Given the description of an element on the screen output the (x, y) to click on. 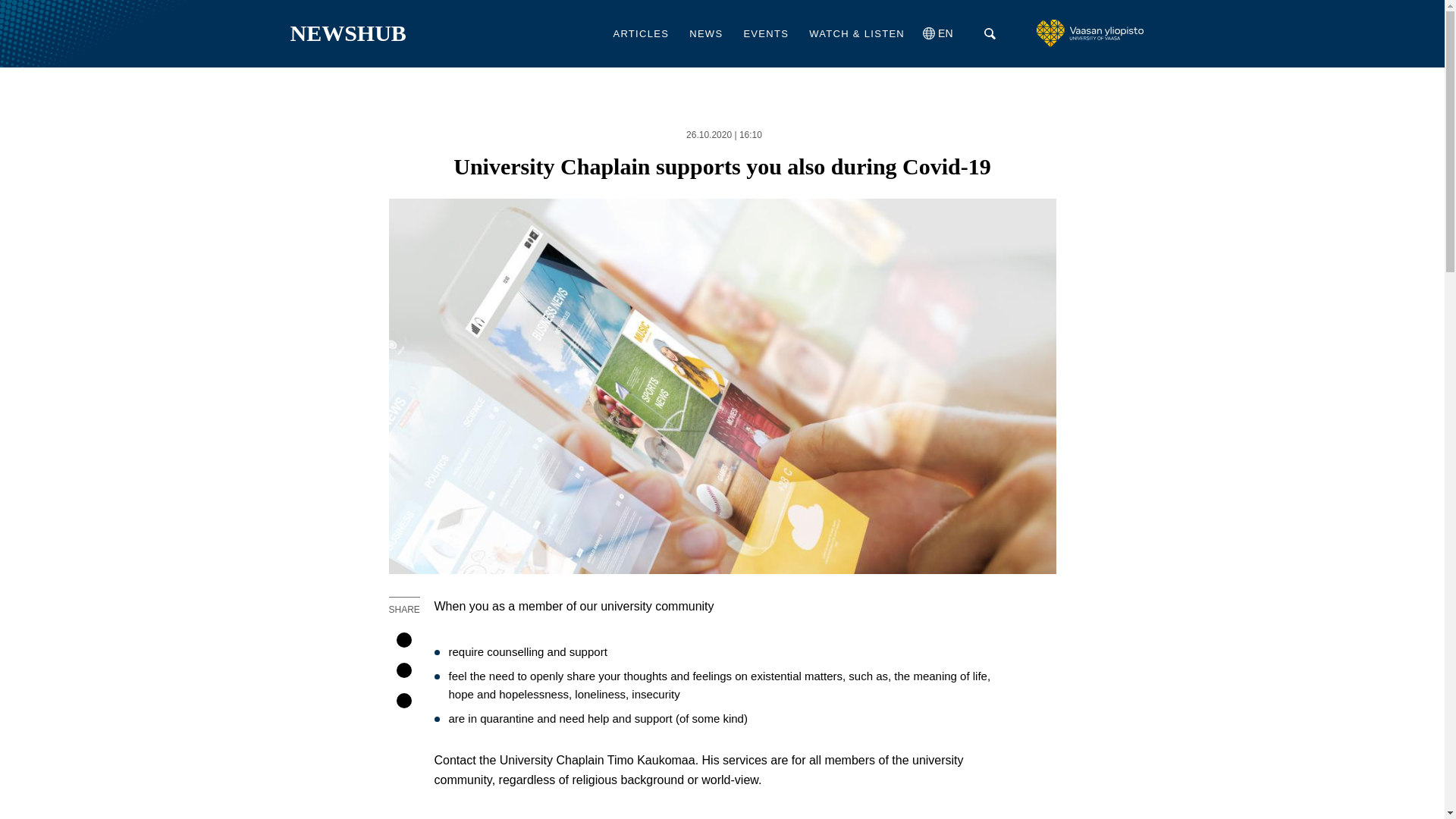
EVENTS (765, 33)
EN (943, 32)
Skip to main content (721, 1)
NEWSHUB (347, 32)
NEWS (705, 33)
Share to E-mail (403, 700)
UNIVERSITY OF VAASA HOMEPAGE (1093, 33)
Share to Facebook (403, 639)
ARTICLES (640, 33)
Share to Linkedin (403, 670)
